Given the description of an element on the screen output the (x, y) to click on. 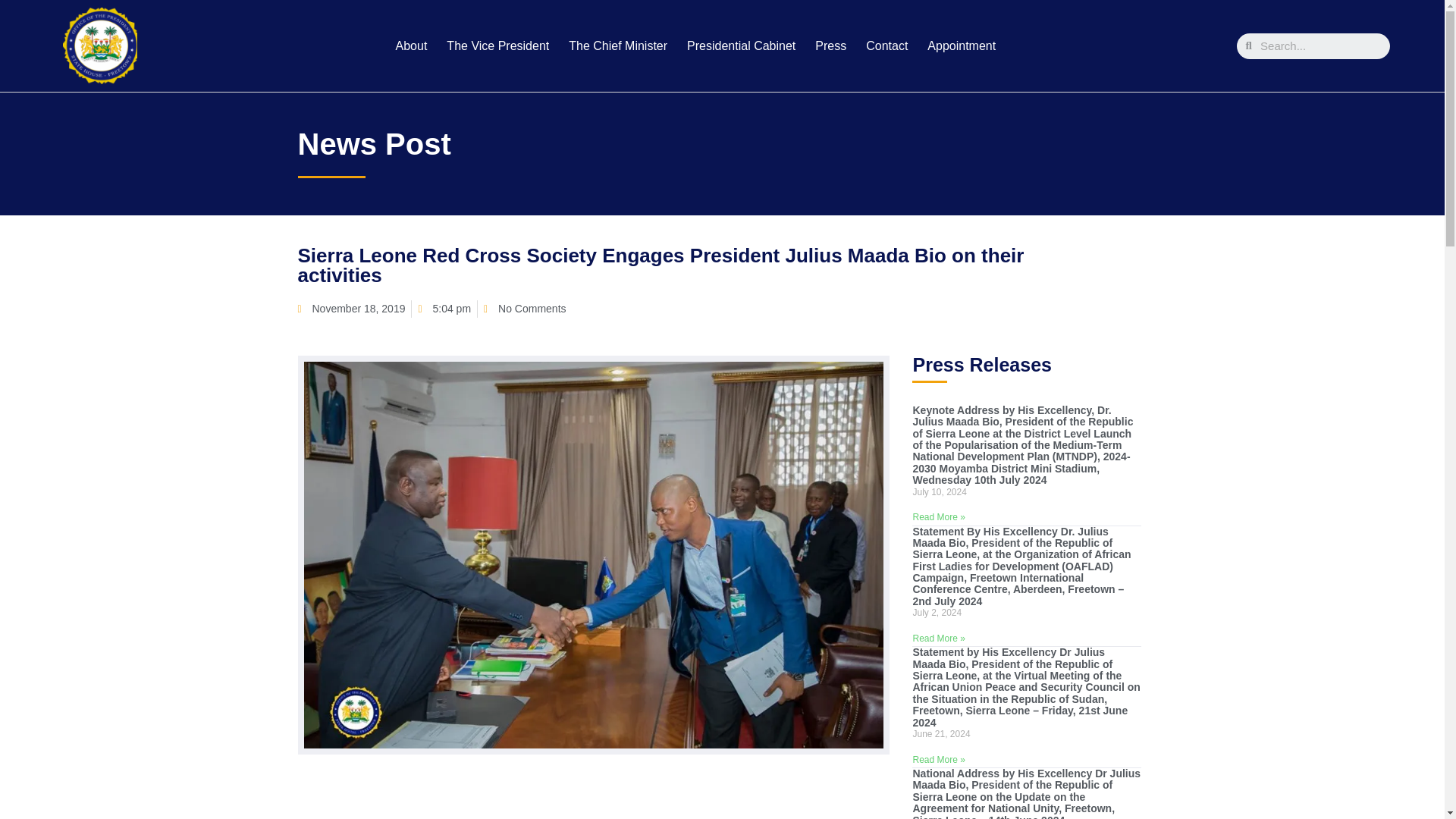
Press (831, 45)
Presidential Cabinet (741, 45)
About (411, 45)
The Vice President (497, 45)
Appointment (961, 45)
Search (1321, 45)
The Chief Minister (618, 45)
Contact (887, 45)
